Given the description of an element on the screen output the (x, y) to click on. 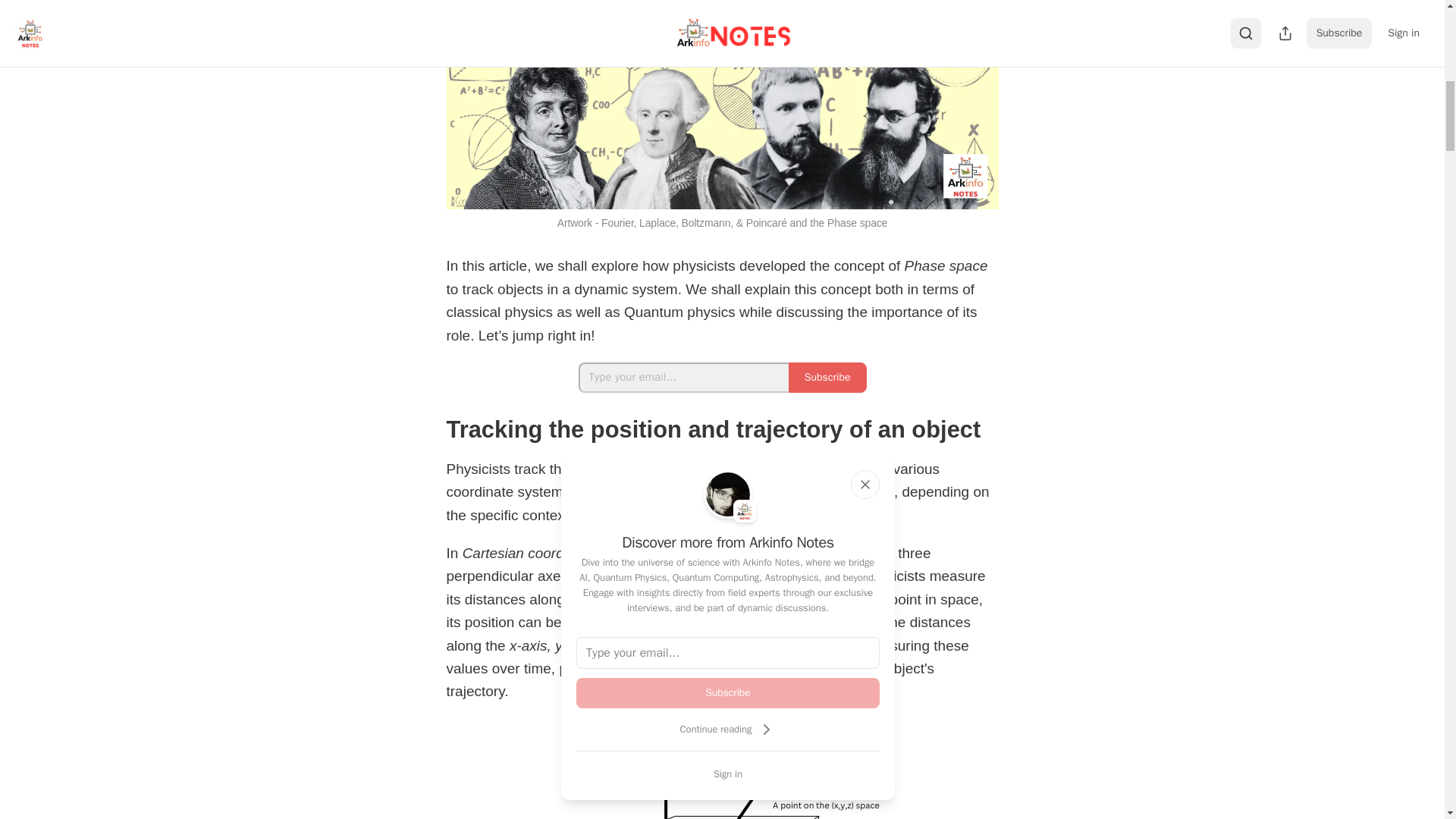
Subscribe (827, 377)
Sign in (727, 773)
Subscribe (727, 693)
